Given the description of an element on the screen output the (x, y) to click on. 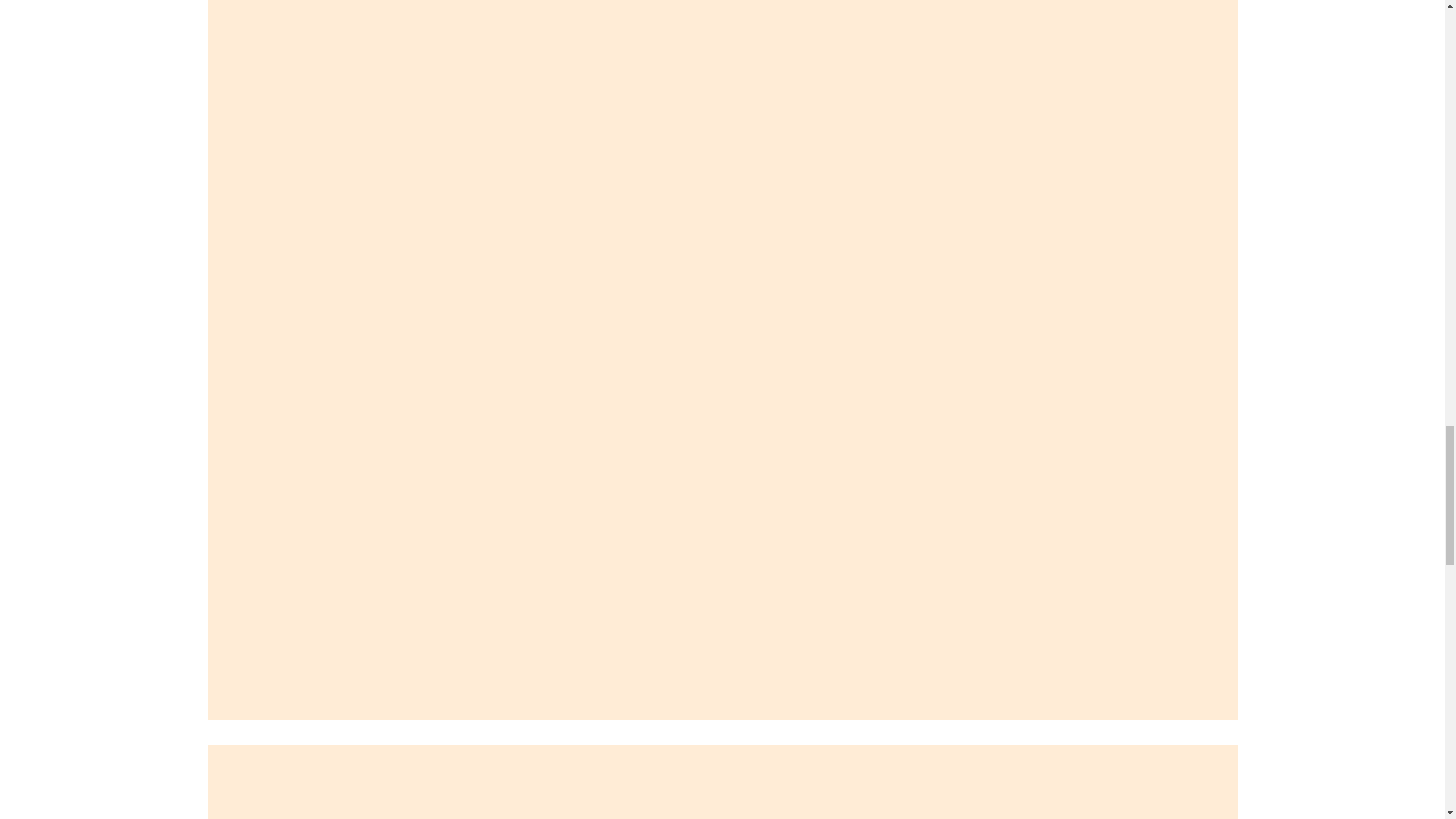
Request (233, 737)
